Given the description of an element on the screen output the (x, y) to click on. 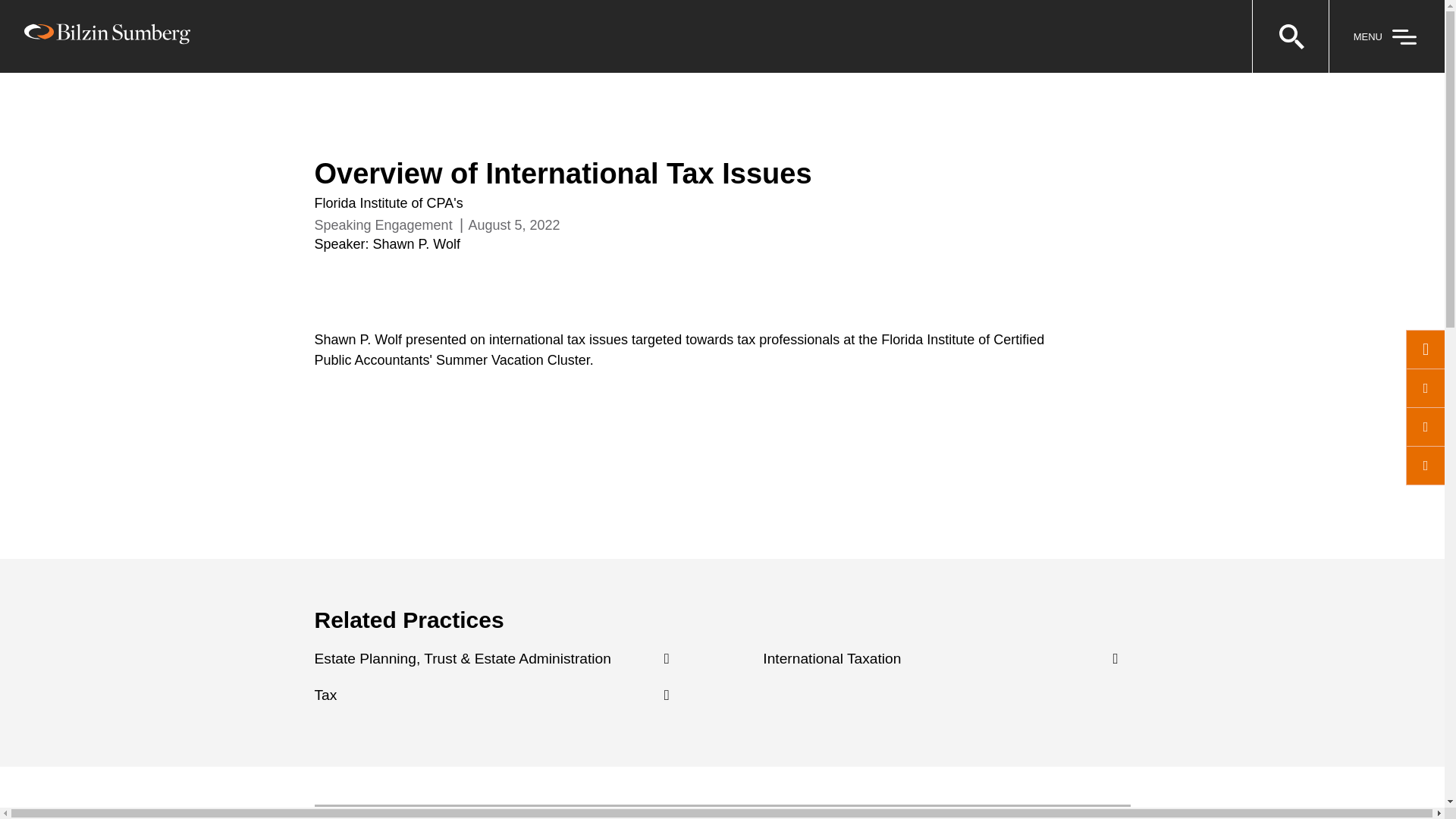
linkedin (1425, 349)
Home (333, 105)
Shawn P. Wolf (416, 243)
Bilzin Logo - Returns to homepage (107, 34)
Insights (392, 105)
facebook (1425, 426)
Bilzin Logo - Returns to homepage (107, 36)
twitter (1425, 388)
MENU (1386, 36)
Tax (325, 694)
International Taxation (831, 658)
